Given the description of an element on the screen output the (x, y) to click on. 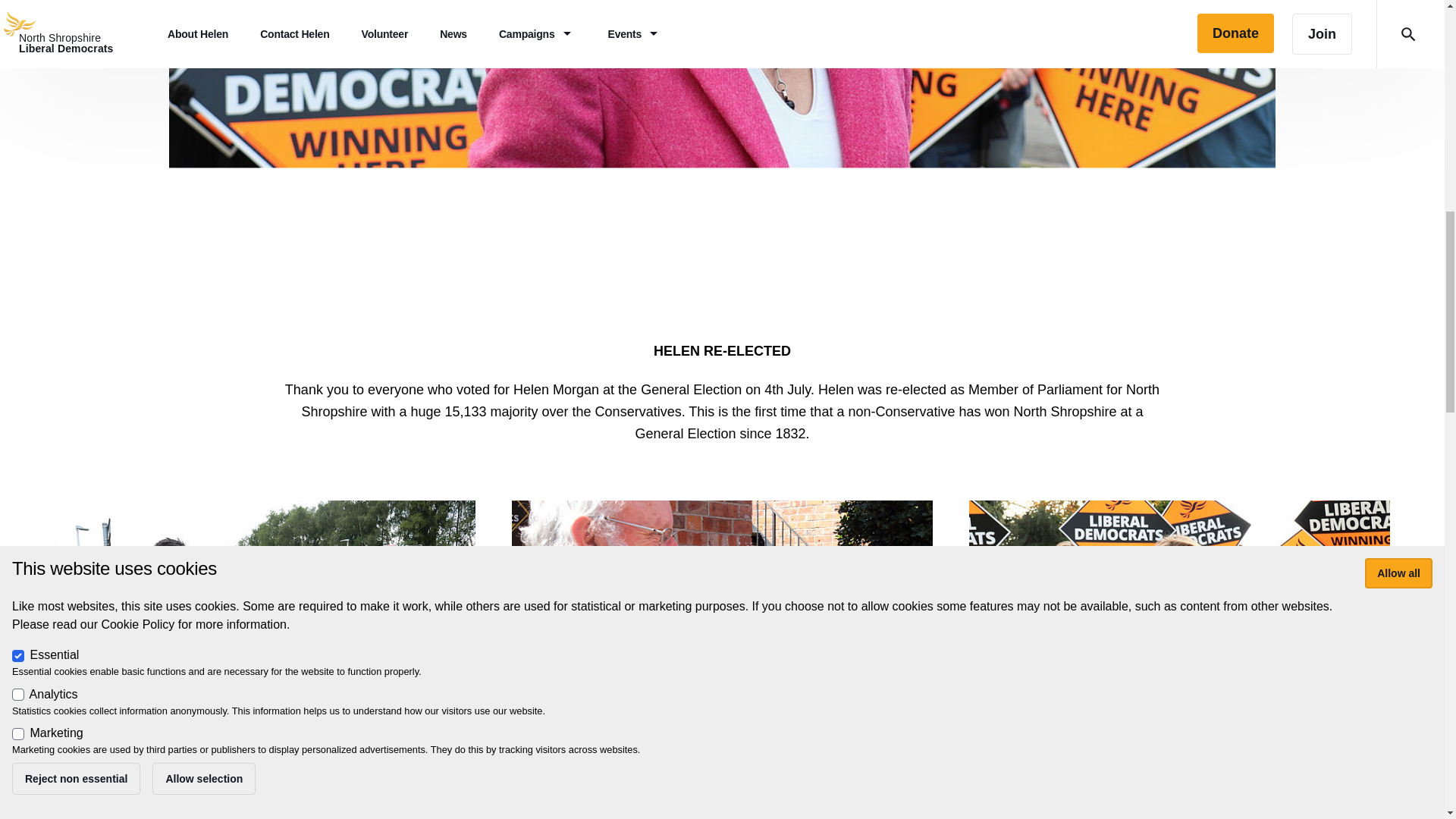
Volunteer (1179, 618)
News (265, 618)
Weekly Updates (722, 618)
View (265, 654)
Sign up to Helen's Weekly Email Updates (722, 784)
See the latest News from Helen (264, 784)
View (1179, 654)
Join Helen's Team (1179, 784)
View (722, 654)
